Given the description of an element on the screen output the (x, y) to click on. 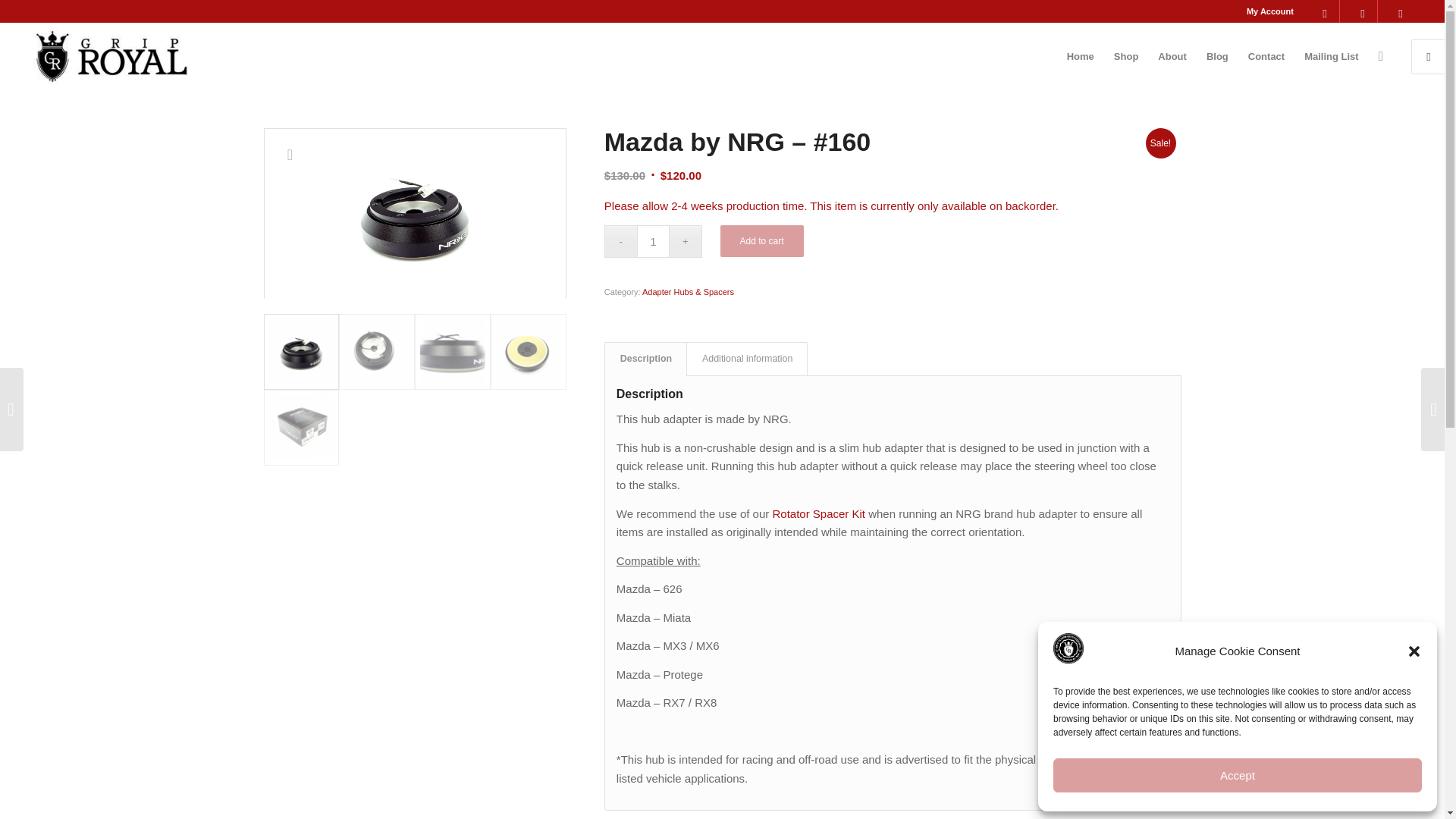
Facebook (1324, 11)
My Account (1270, 11)
Youtube (1400, 11)
Instagram (1362, 11)
1 (653, 241)
Description (645, 358)
- (620, 241)
Additional information (746, 358)
Accept (1237, 775)
